Given the description of an element on the screen output the (x, y) to click on. 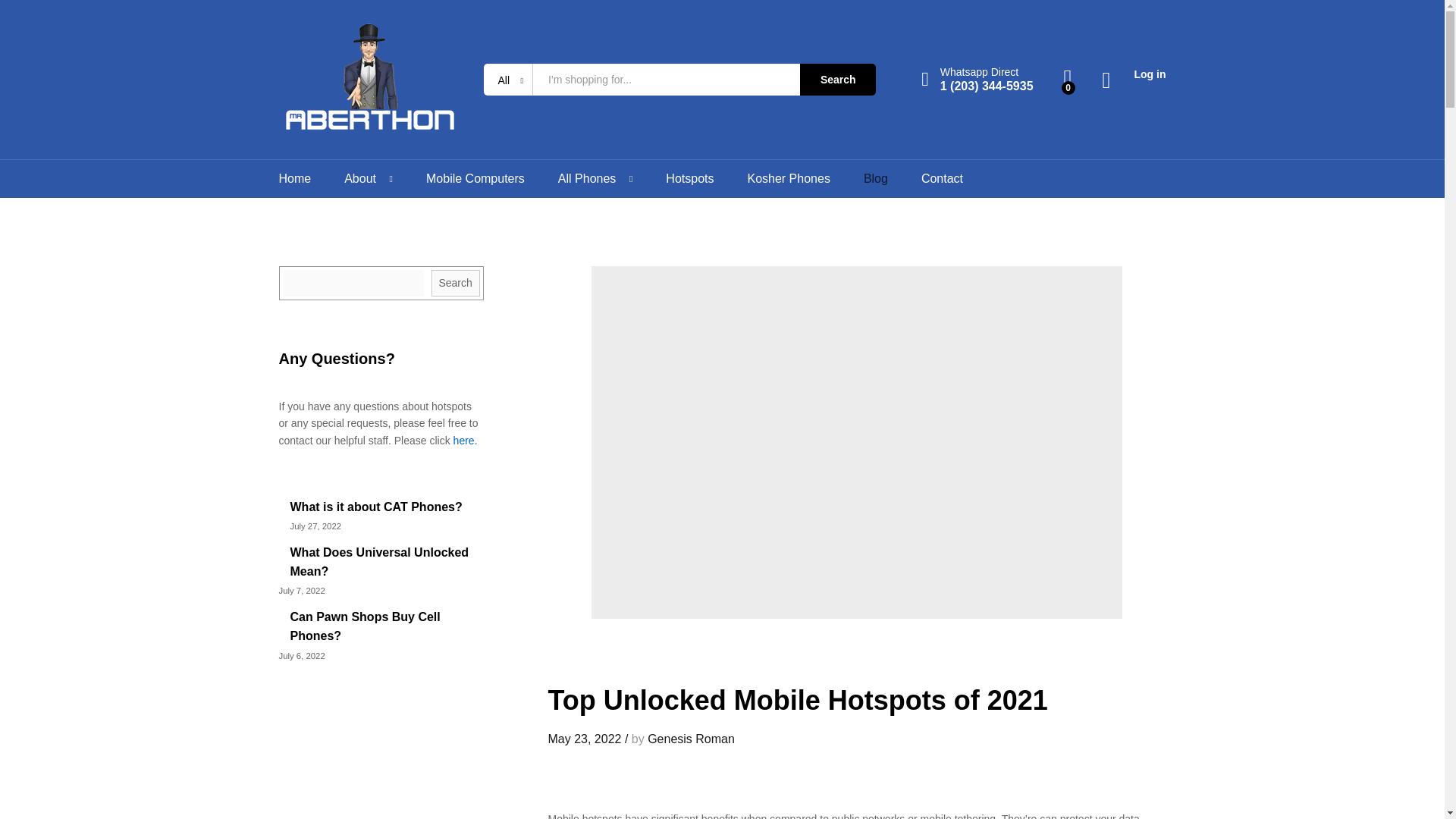
May 23, 2022 (584, 738)
Genesis Roman (691, 738)
Blog (875, 178)
About (359, 178)
Search (837, 79)
Mobile Computers (475, 178)
Hotspots (689, 178)
Kosher Phones (787, 178)
All Phones (586, 178)
Log in (1134, 74)
